Given the description of an element on the screen output the (x, y) to click on. 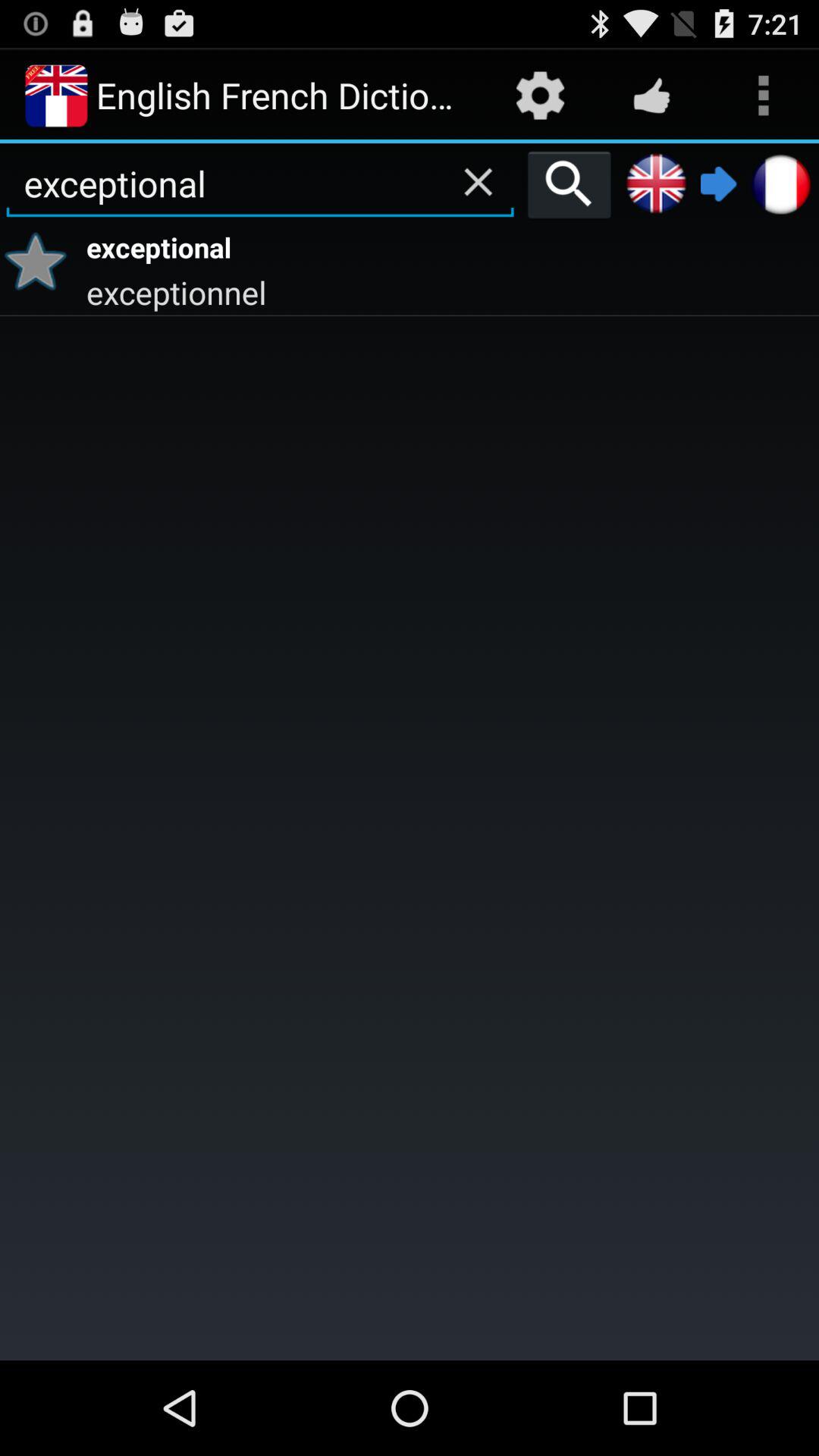
turn on item to the left of exceptional app (41, 260)
